Given the description of an element on the screen output the (x, y) to click on. 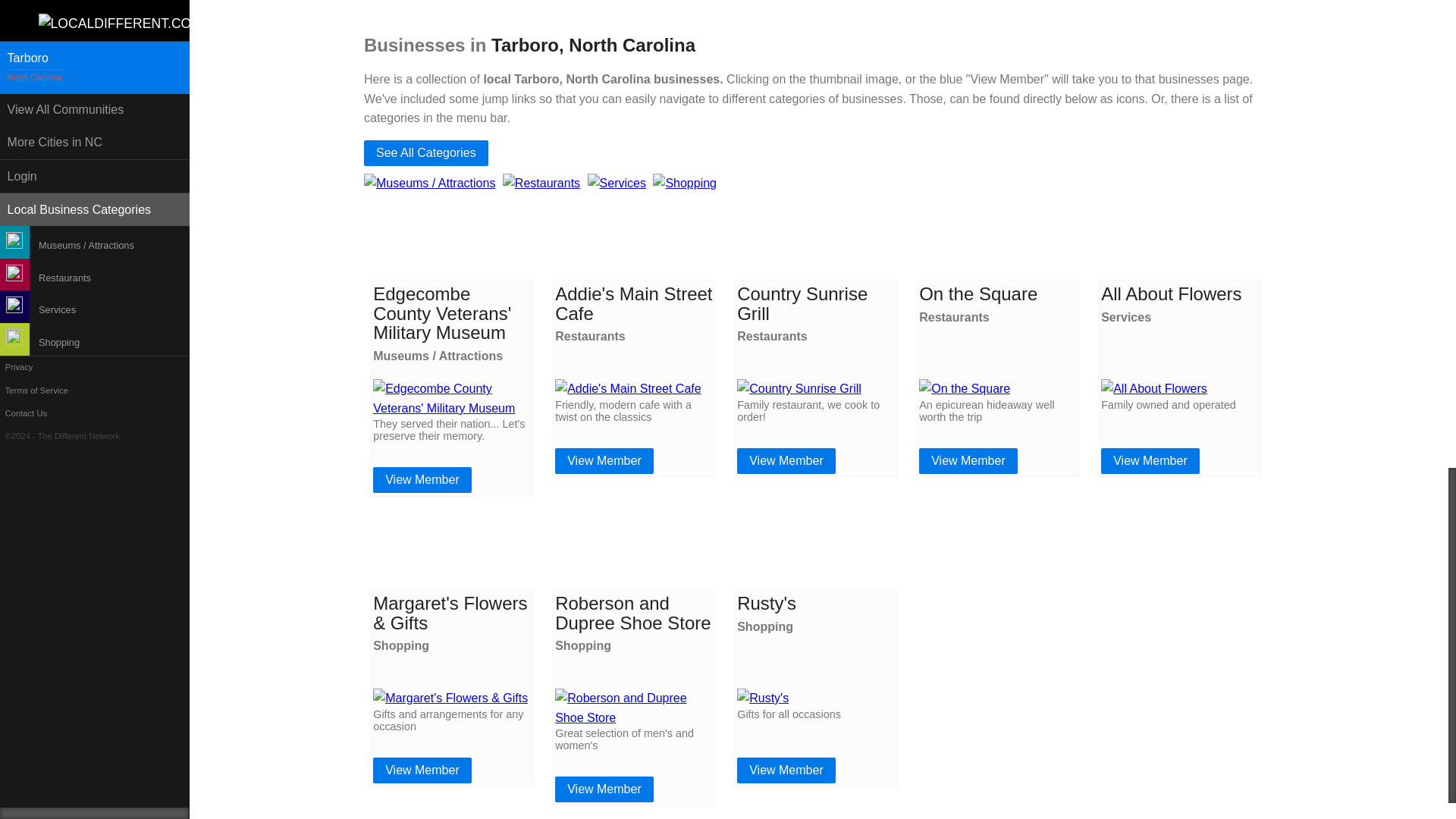
Show buttons to jump to listings by category (425, 153)
View Member (967, 460)
Jump to Services (617, 182)
View Member (785, 460)
See All Categories (425, 153)
View Member (421, 479)
View Member (603, 460)
Jump to Restaurants (540, 182)
